Given the description of an element on the screen output the (x, y) to click on. 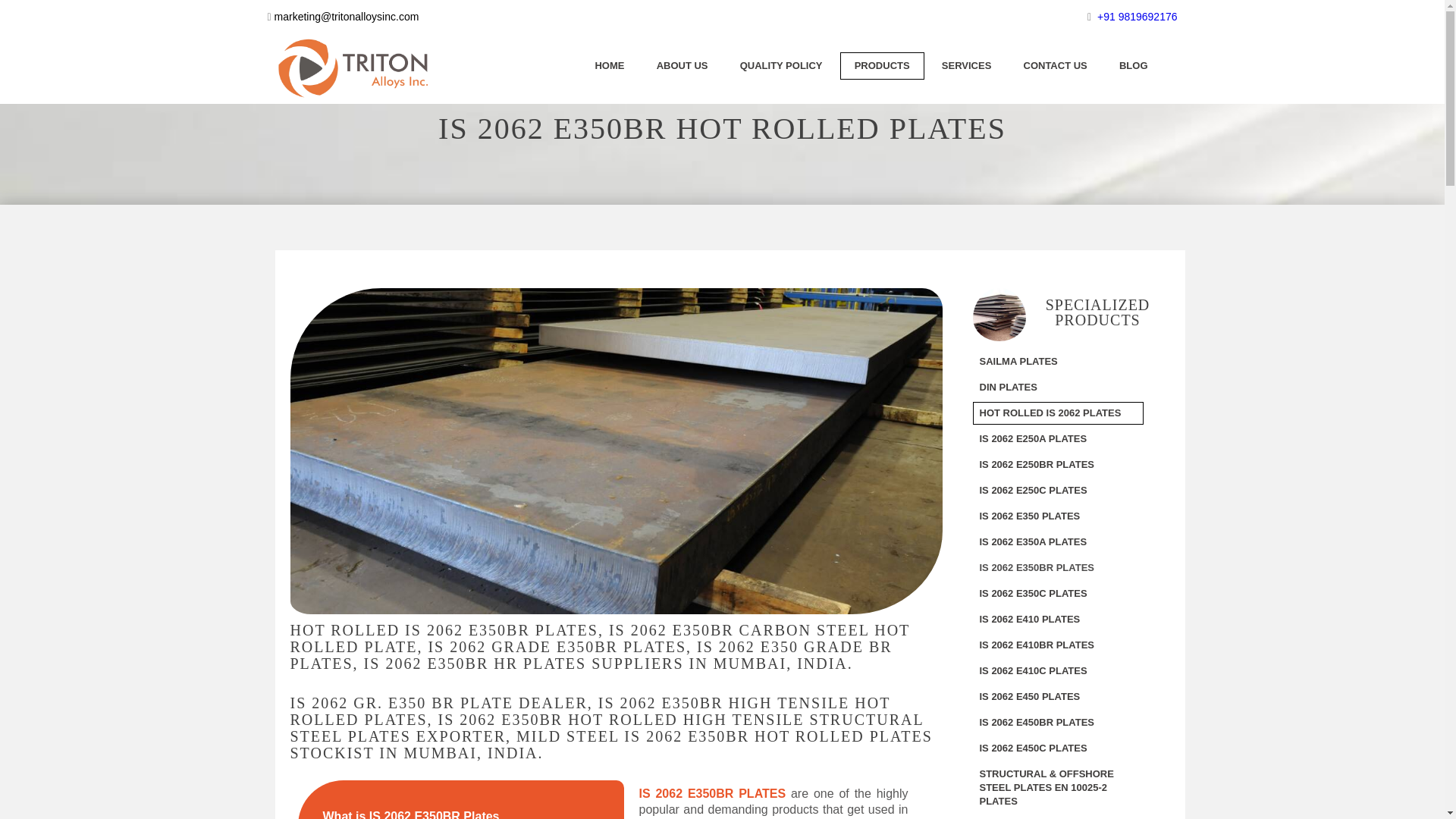
IS 2062 E250BR PLATES (1057, 464)
SERVICES (966, 65)
SAILMA PLATES (1057, 361)
IS 2062 E350BR PLATES (712, 793)
IS 2062 E250C PLATES (1057, 490)
IS 2062 E350BR PLATES (1057, 567)
HOME (609, 65)
CONTACT US (1054, 65)
IS 2062 E350A PLATES (1057, 541)
IS 2062 E350 PLATES (1057, 516)
What is IS 2062 E350BR Plates (403, 814)
BLOG (1133, 65)
IS 2062 E250A PLATES (1057, 438)
QUALITY POLICY (781, 65)
